Given the description of an element on the screen output the (x, y) to click on. 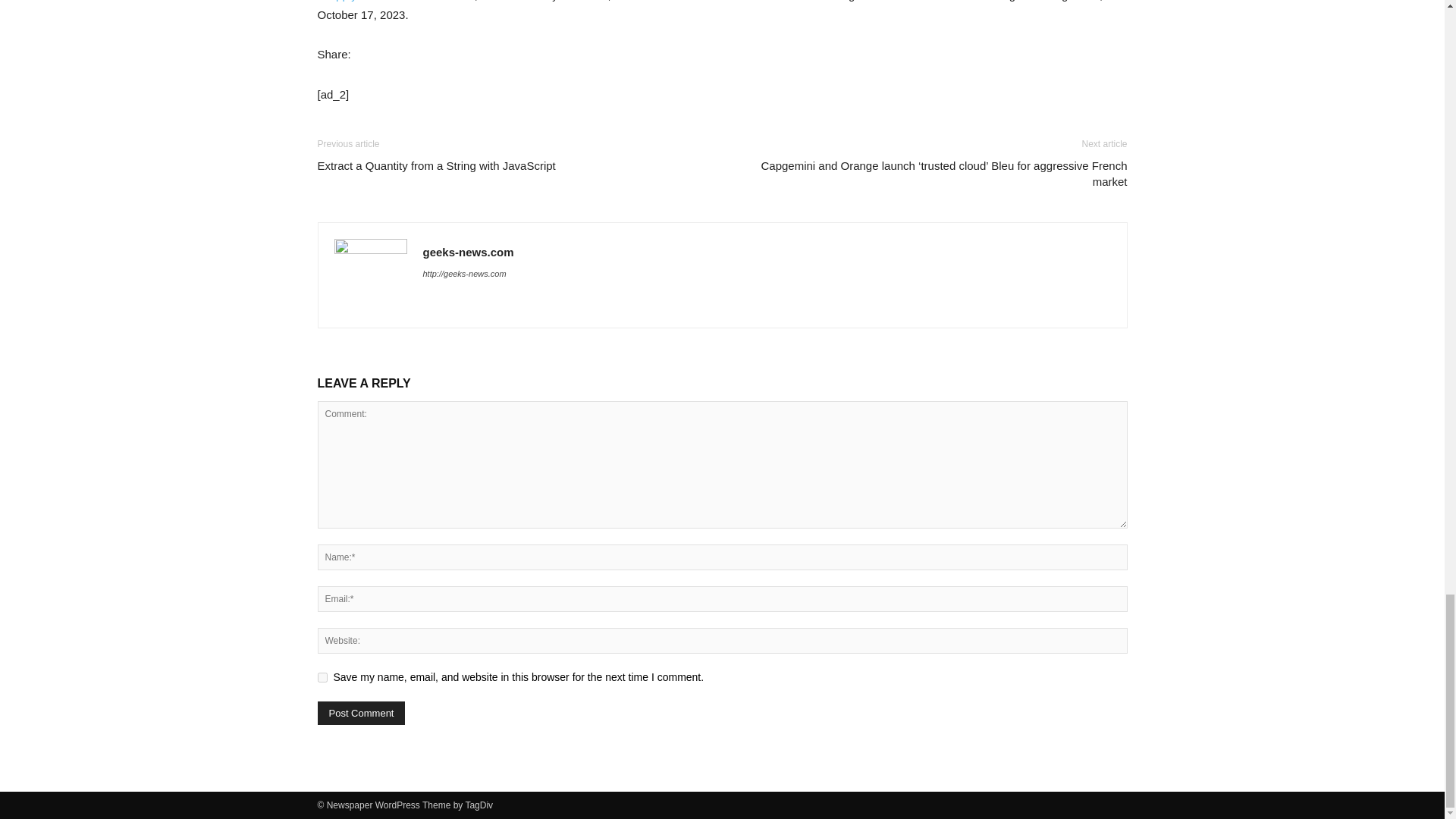
Post Comment (360, 712)
yes (321, 677)
Extract a Quantity from a String with JavaScript (435, 165)
geeks-news.com (468, 251)
Post Comment (360, 712)
Supply: (341, 0)
